Given the description of an element on the screen output the (x, y) to click on. 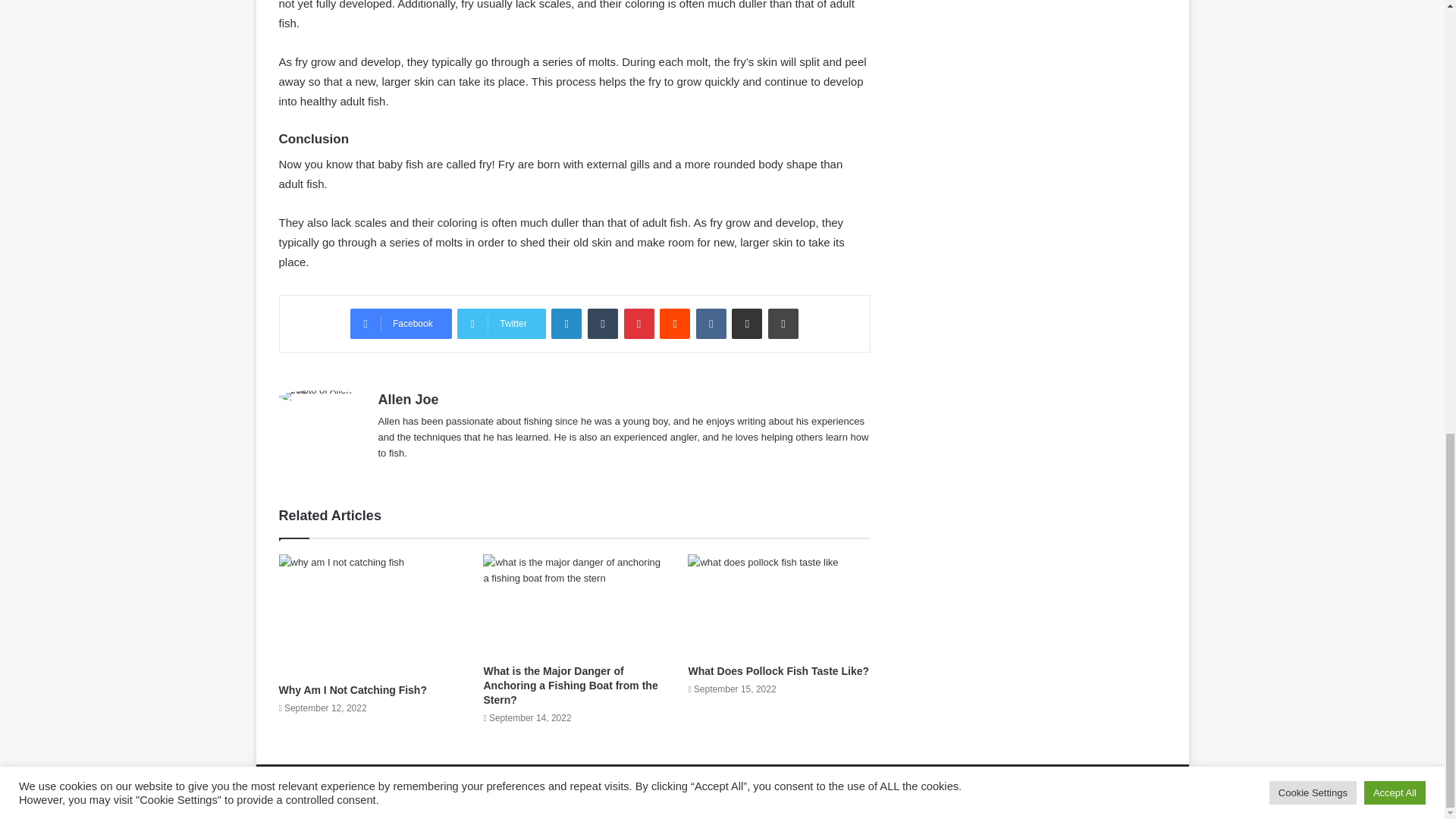
VKontakte (710, 323)
Pinterest (638, 323)
Reddit (674, 323)
Allen Joe (407, 399)
VKontakte (710, 323)
Pinterest (638, 323)
Why Am I Not Catching Fish? (352, 689)
LinkedIn (565, 323)
Share via Email (746, 323)
Facebook (400, 323)
Tumblr (602, 323)
Print (782, 323)
Share via Email (746, 323)
Facebook (400, 323)
